Given the description of an element on the screen output the (x, y) to click on. 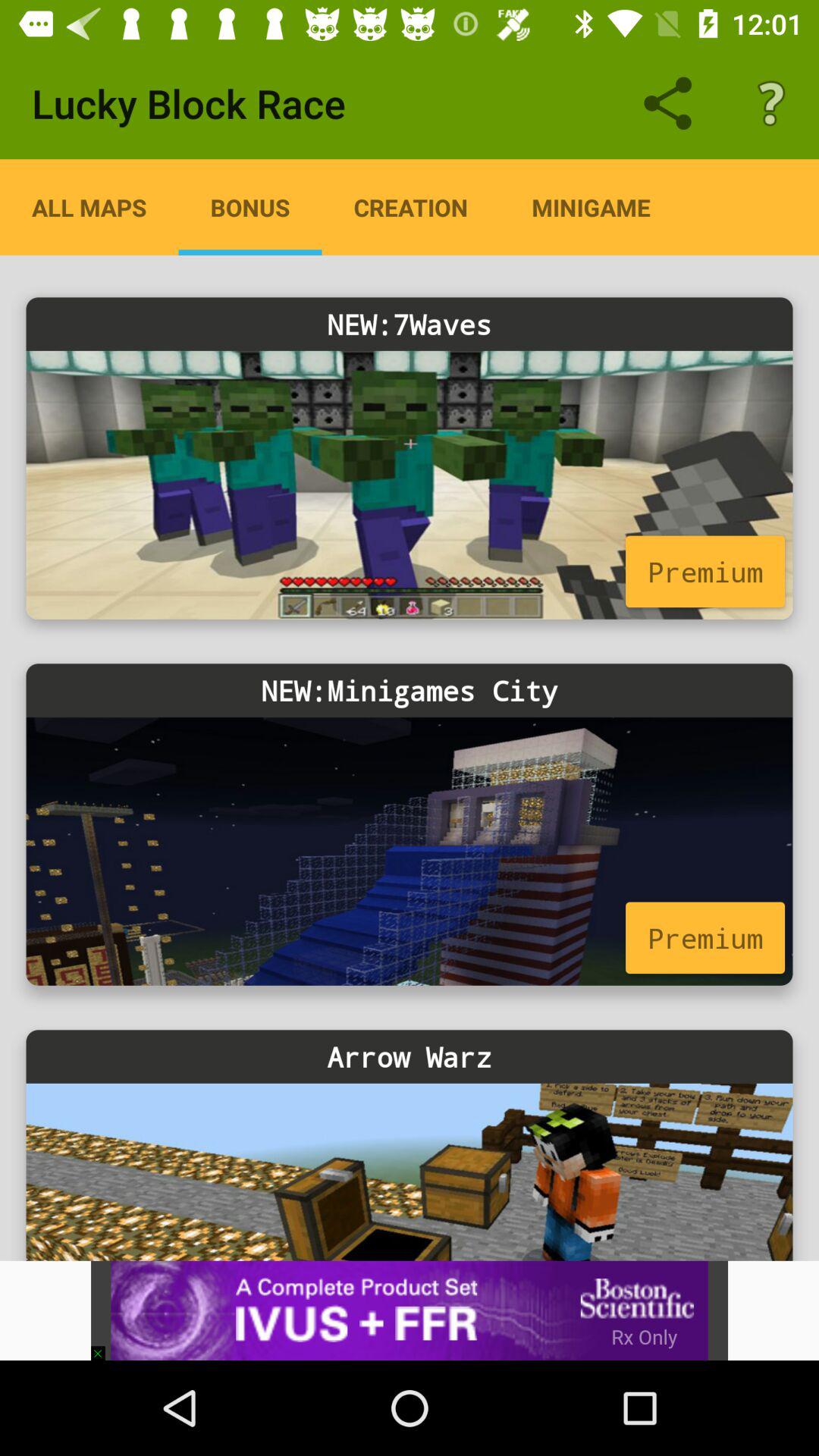
turn on the app next to the creation icon (590, 207)
